Given the description of an element on the screen output the (x, y) to click on. 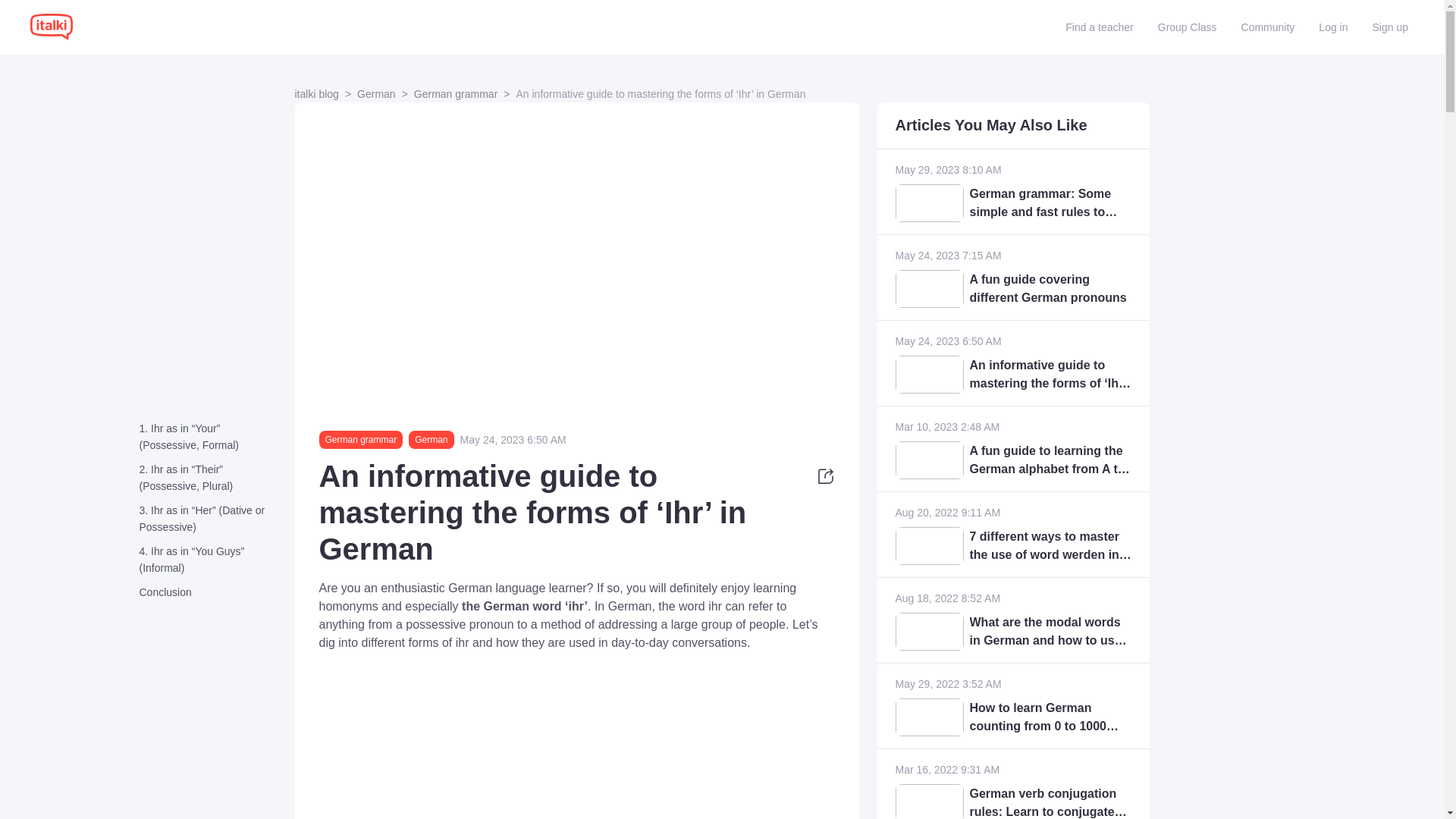
German grammar (455, 93)
Find a teacher (1099, 27)
Conclusion (210, 591)
German (376, 93)
German grammar (363, 439)
Group Class (1187, 27)
